Given the description of an element on the screen output the (x, y) to click on. 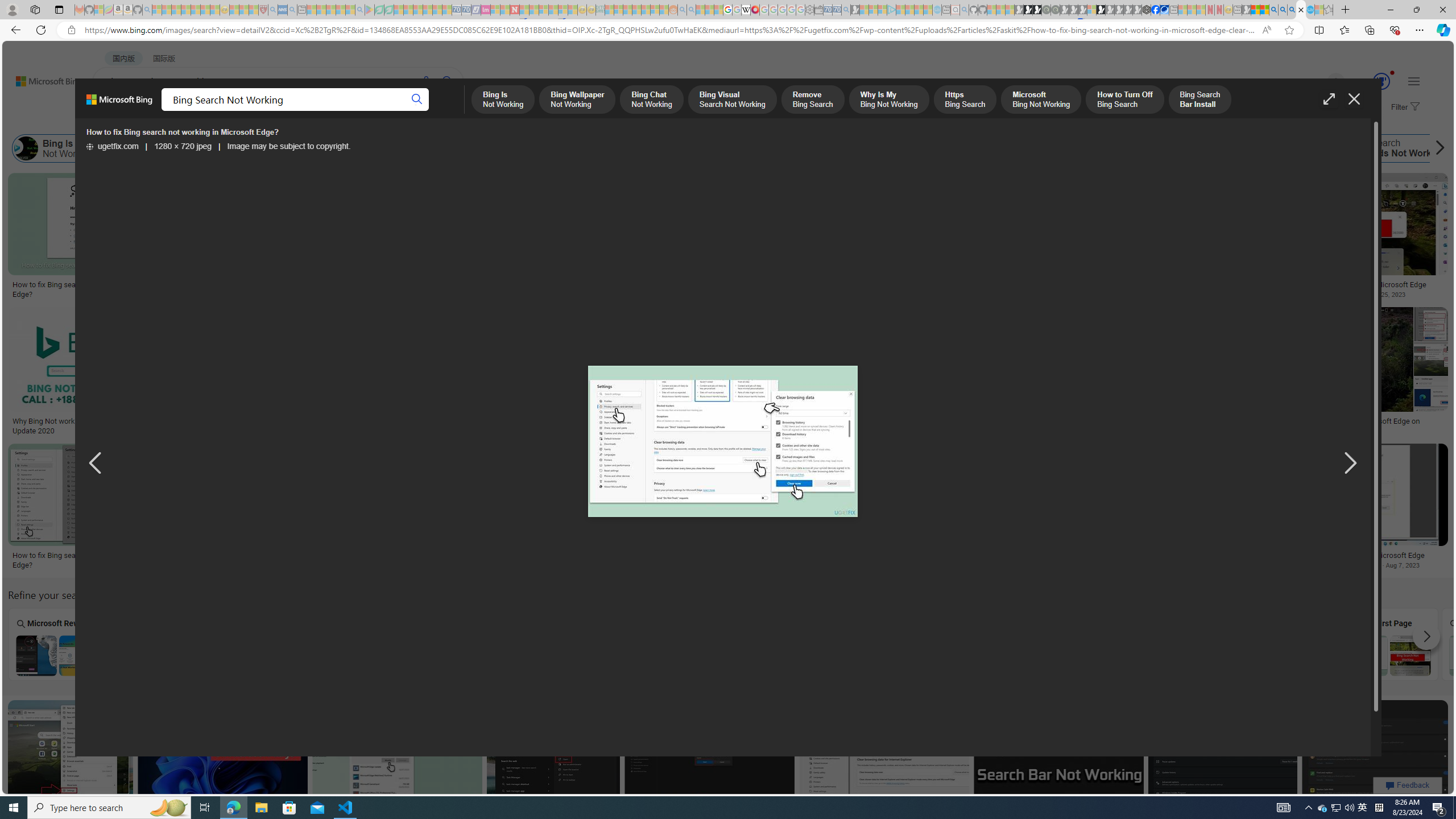
Engine (1184, 643)
3:16 (1287, 183)
How to Get Rid of Bing Search (1256, 148)
Points (467, 643)
Bing Search Engine Not Working Engine (1184, 643)
VIDEOS (310, 111)
Why First Page of Bing Search Not Working Why First Page (1388, 643)
Bing Search Not Working On My Tablet My Tablet (160, 643)
utah sues federal government - Search - Sleeping (291, 9)
Utah sues federal government - Search - Sleeping (690, 9)
